Given the description of an element on the screen output the (x, y) to click on. 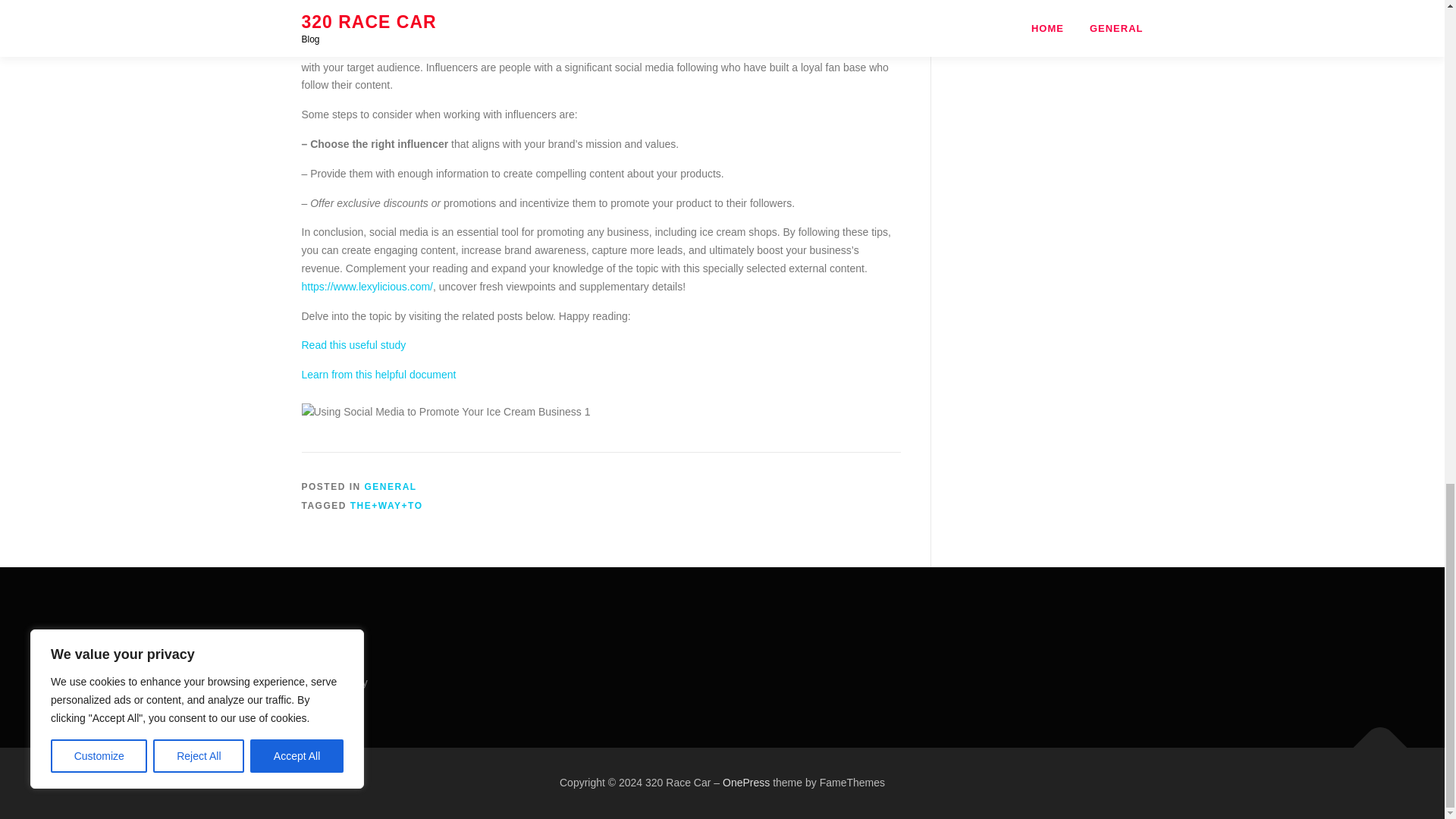
Read this useful study (353, 345)
Learn from this helpful document (379, 374)
GENERAL (390, 486)
Back To Top (1372, 740)
